Given the description of an element on the screen output the (x, y) to click on. 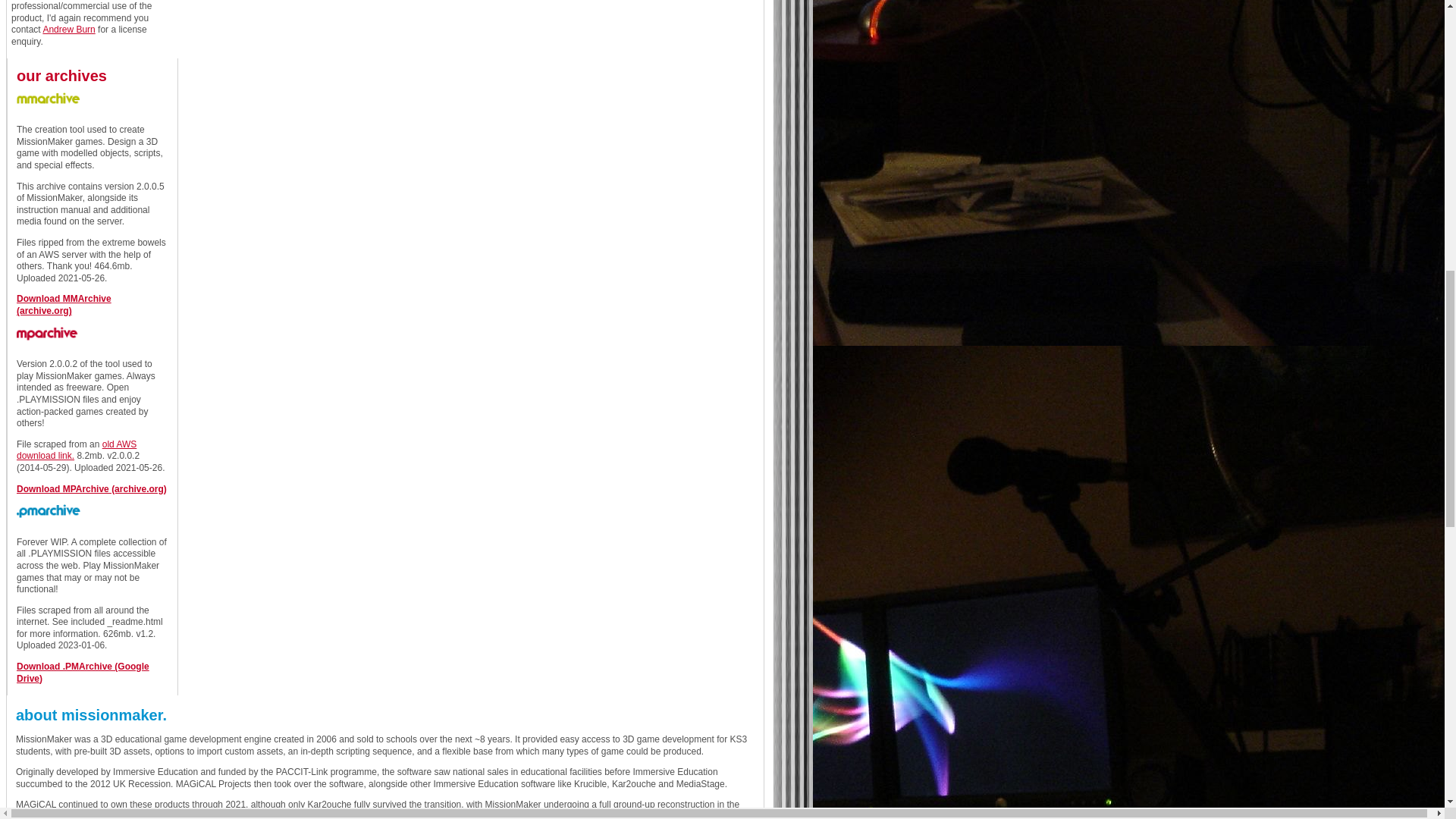
Andrew Burn (68, 29)
old AWS download link. (76, 449)
